Given the description of an element on the screen output the (x, y) to click on. 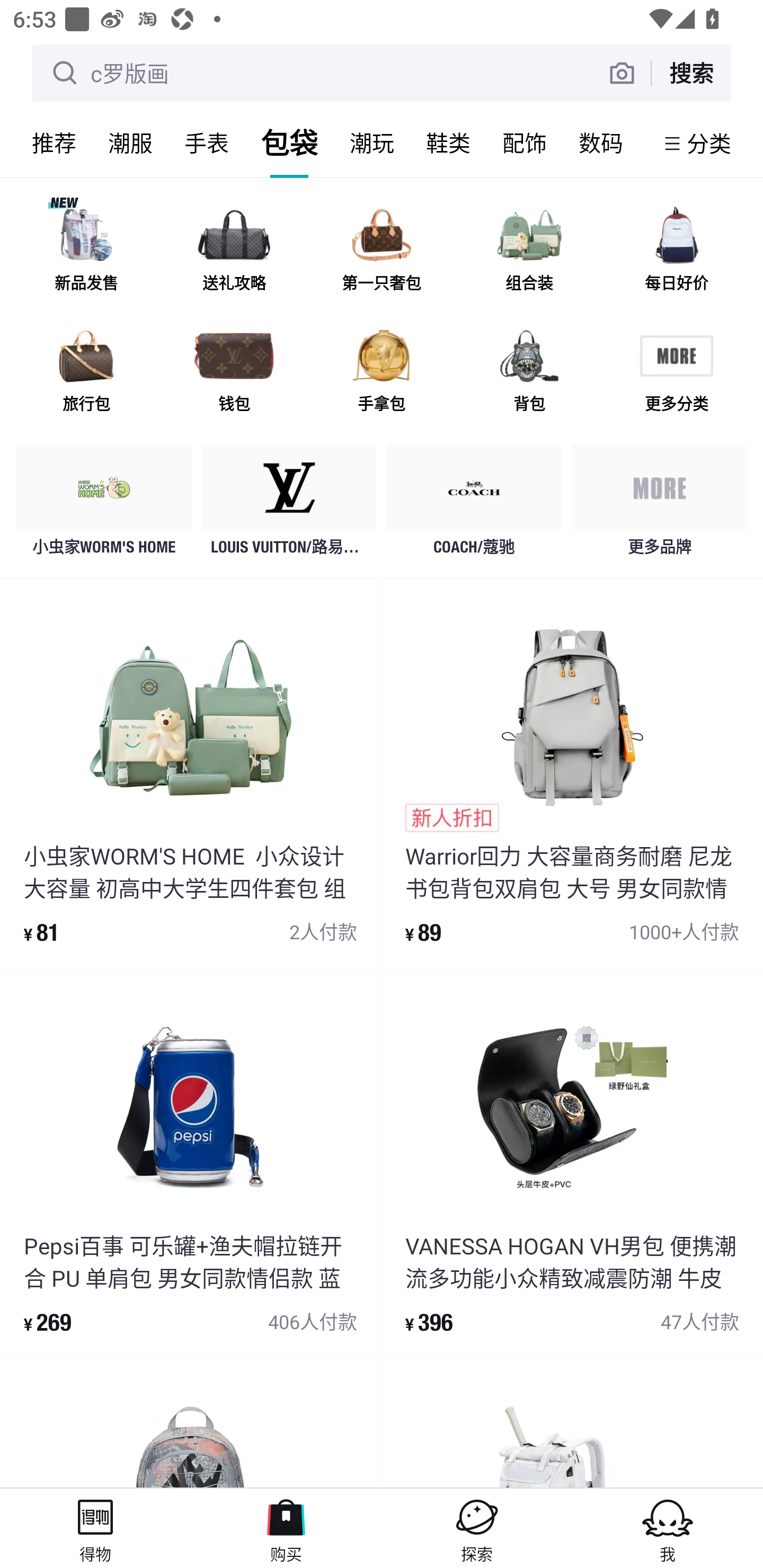
搜索 (690, 72)
推荐 (54, 143)
潮服 (130, 143)
手表 (206, 143)
包袋 (289, 143)
潮玩 (372, 143)
鞋类 (448, 143)
配饰 (524, 143)
数码 (601, 143)
分类 (708, 143)
新品发售 (86, 251)
送礼攻略 (233, 251)
第一只奢包 (381, 251)
组合装 (528, 251)
每日好价 (676, 251)
旅行包 (86, 372)
钱包 (233, 372)
手拿包 (381, 372)
背包 (528, 372)
更多分类 (676, 372)
小虫家WORM'S HOME (103, 505)
LOUIS VUITTON/路易威登 (288, 505)
COACH/蔻驰 (473, 505)
更多品牌 (658, 505)
得物 (95, 1528)
购买 (285, 1528)
探索 (476, 1528)
我 (667, 1528)
